Given the description of an element on the screen output the (x, y) to click on. 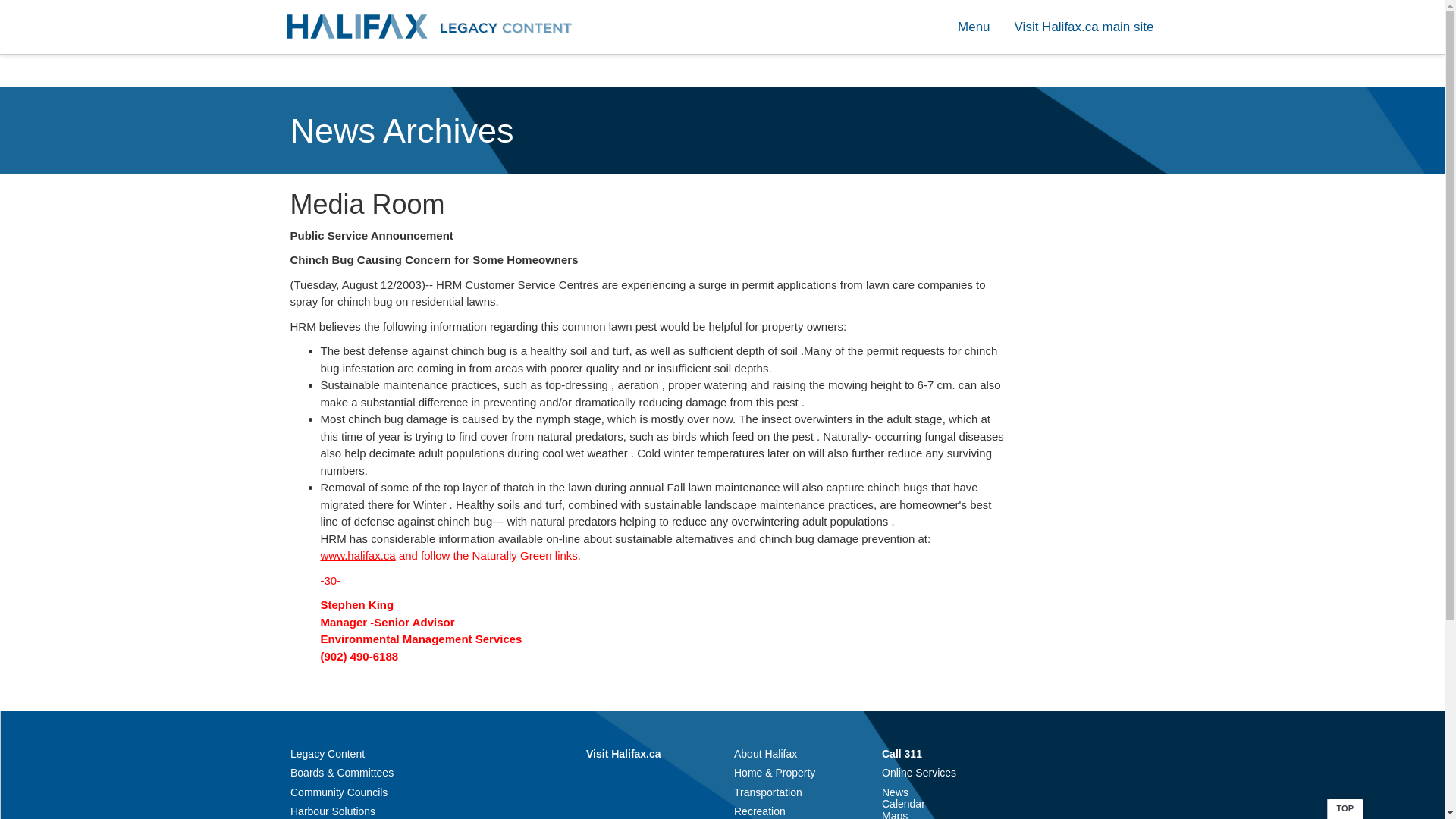
Calendar (903, 803)
Legacy Content (327, 753)
Visit Halifax.ca main site (1084, 26)
Maps (894, 814)
Visit Halifax.ca (623, 753)
Menu (973, 26)
Recreation (759, 811)
Call 311 (901, 753)
Online Services (919, 772)
Harbour Solutions (332, 811)
